Given the description of an element on the screen output the (x, y) to click on. 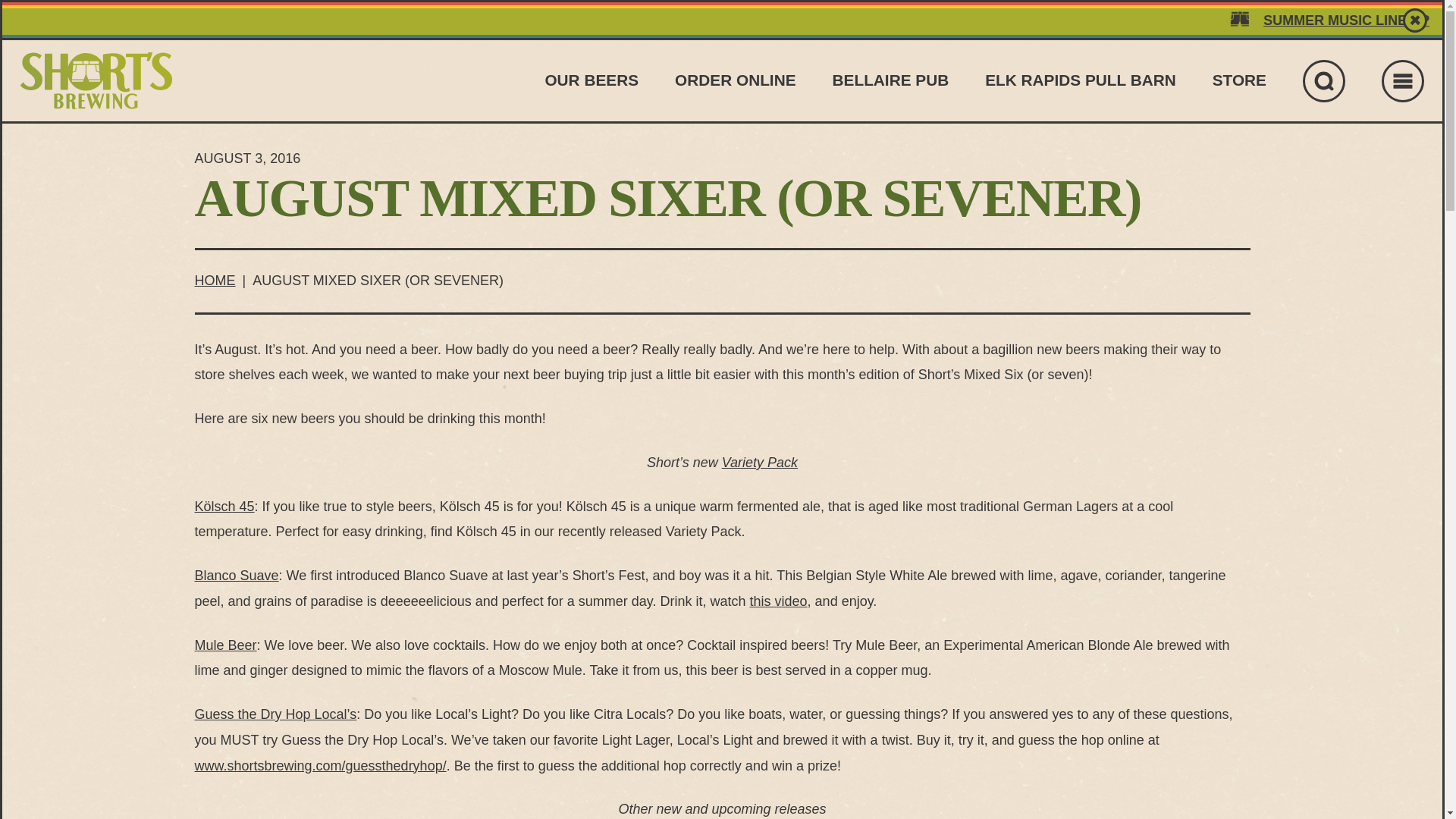
BELLAIRE PUB (890, 79)
ORDER ONLINE (734, 79)
STORE (1239, 79)
OUR BEERS (591, 79)
SKIP TO MAIN CONTENT (721, 30)
Short's Brewing Company (95, 80)
ELK RAPIDS PULL BARN (1080, 79)
